Given the description of an element on the screen output the (x, y) to click on. 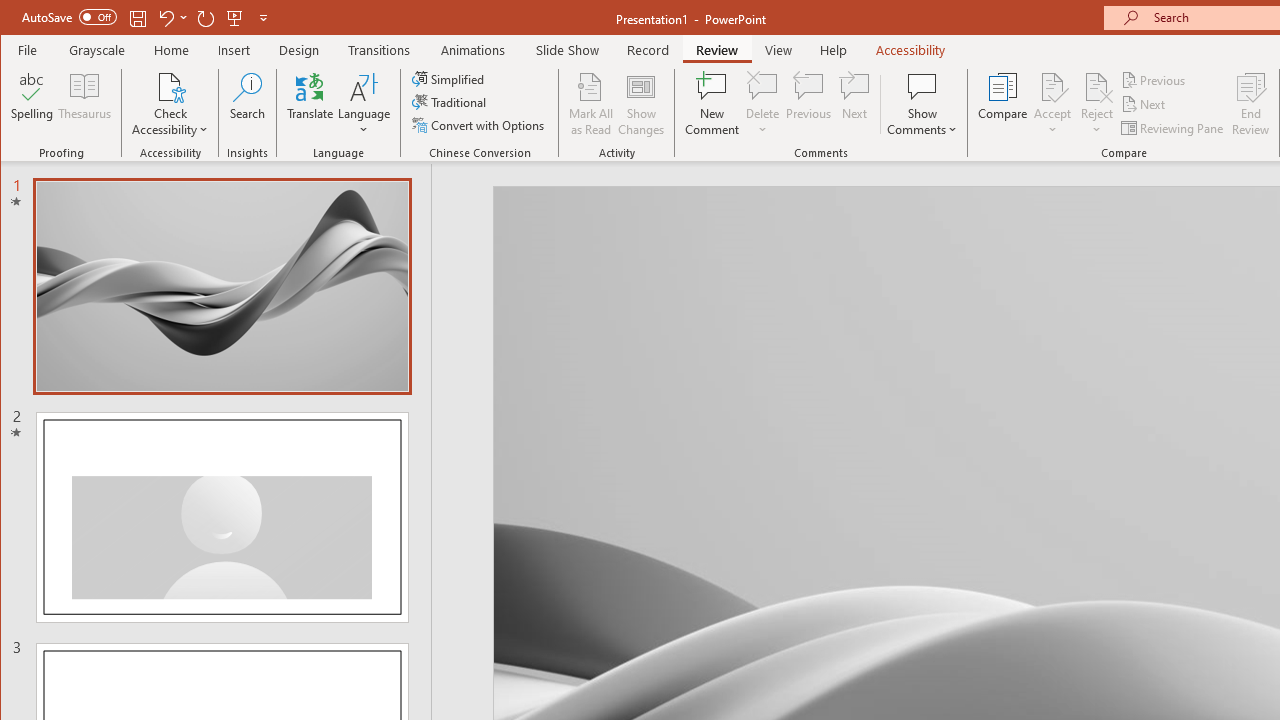
Accept Change (1052, 86)
Mark All as Read (591, 104)
Thesaurus... (84, 104)
Translate (310, 104)
Traditional (450, 101)
